Given the description of an element on the screen output the (x, y) to click on. 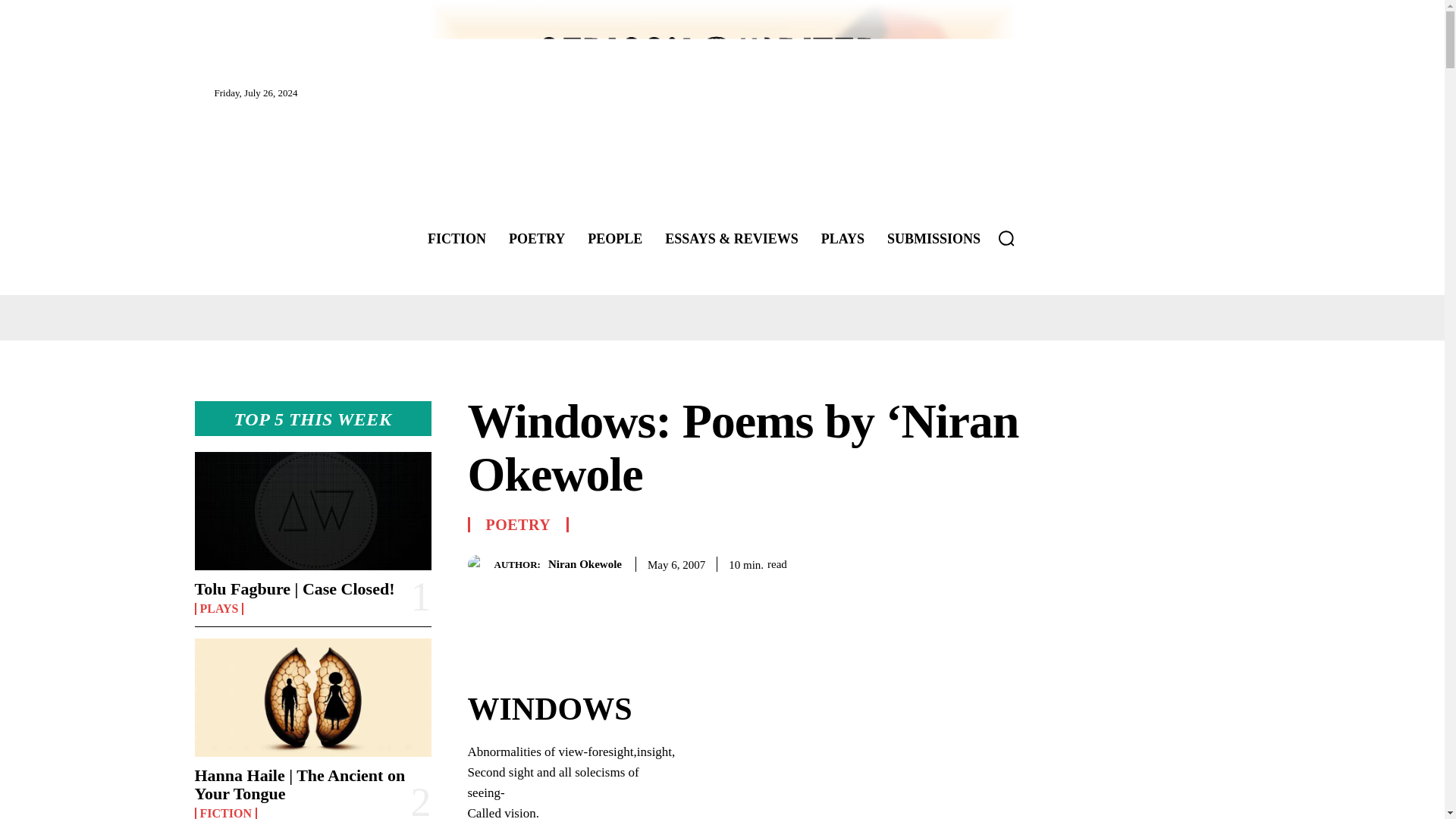
PLAYS (218, 608)
FICTION (456, 238)
POETRY (536, 238)
SUBMISSIONS (933, 238)
PEOPLE (614, 238)
FICTION (224, 813)
PLAYS (842, 238)
